Given the description of an element on the screen output the (x, y) to click on. 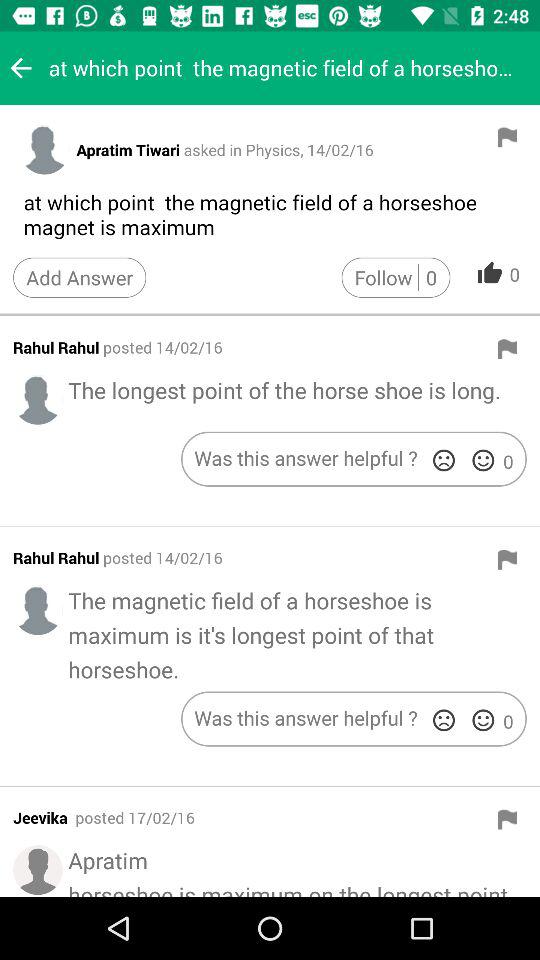
return to previous (21, 68)
